Given the description of an element on the screen output the (x, y) to click on. 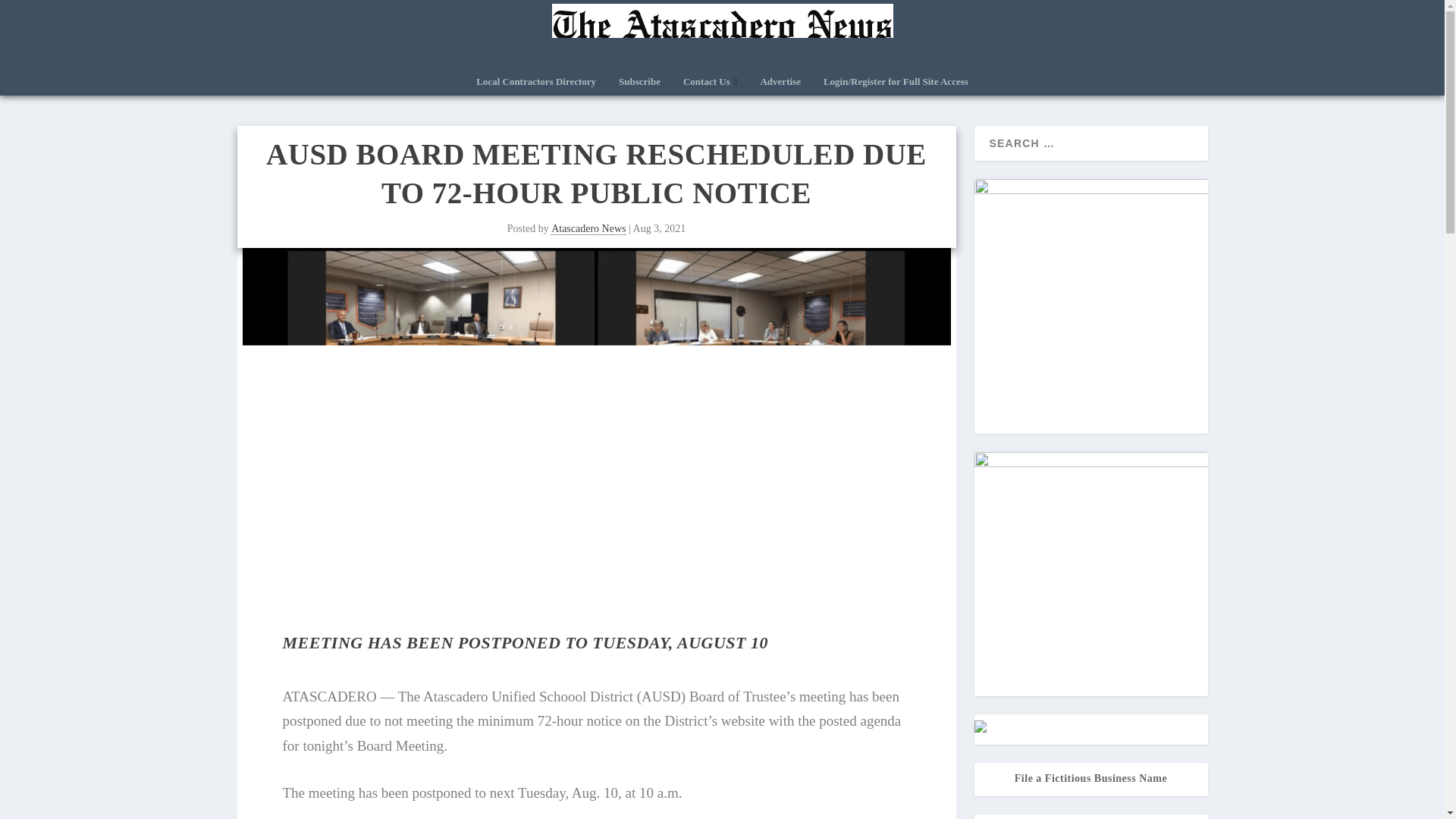
Advertise (779, 85)
Atascadero News (588, 228)
Local Contractors Directory (535, 85)
Subscribe (639, 85)
Contact Us (710, 85)
Posts by Atascadero News (588, 228)
